Given the description of an element on the screen output the (x, y) to click on. 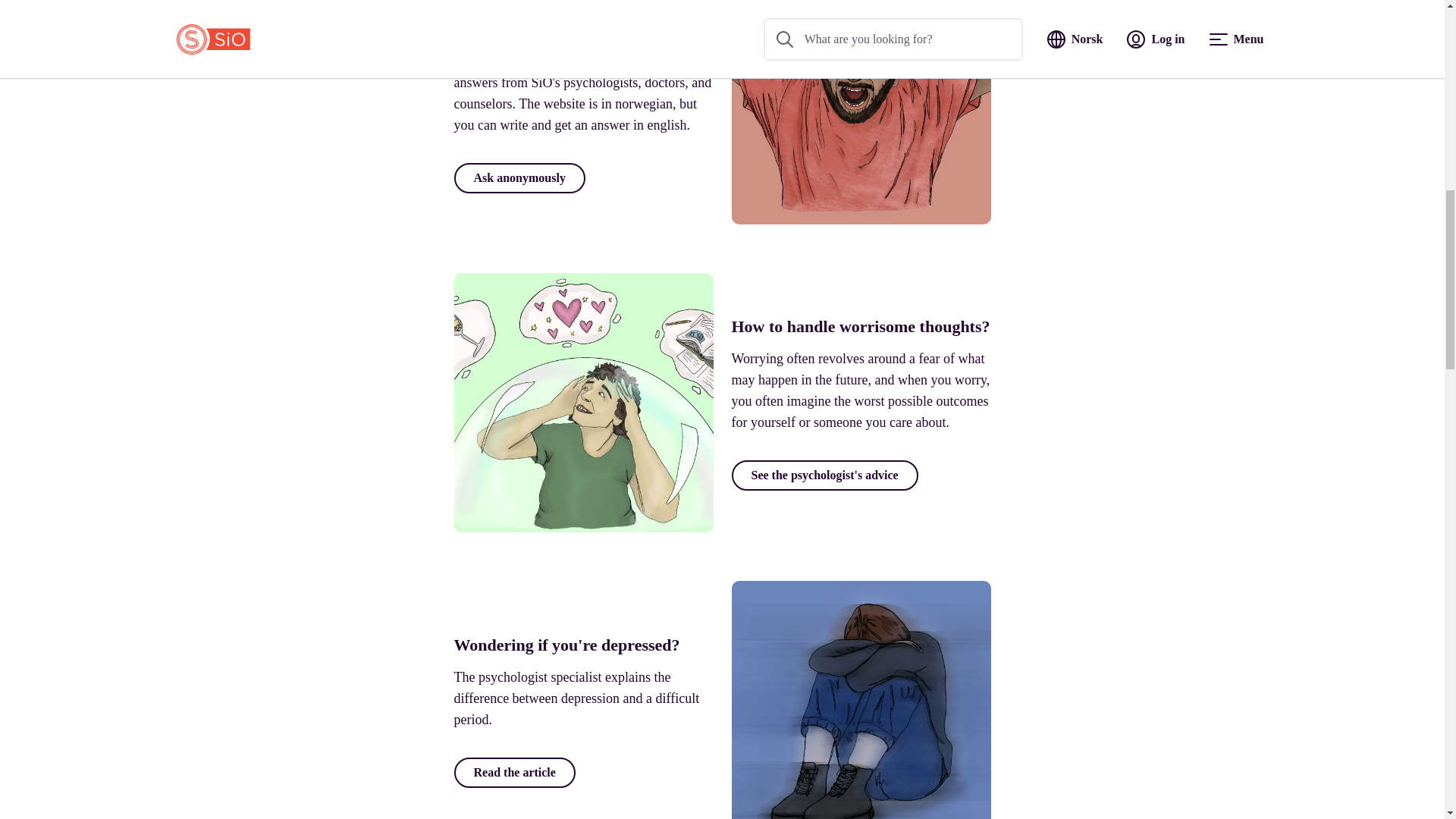
Ask anonymously (518, 177)
See the psychologist's advice (823, 475)
Read the article (513, 772)
